Given the description of an element on the screen output the (x, y) to click on. 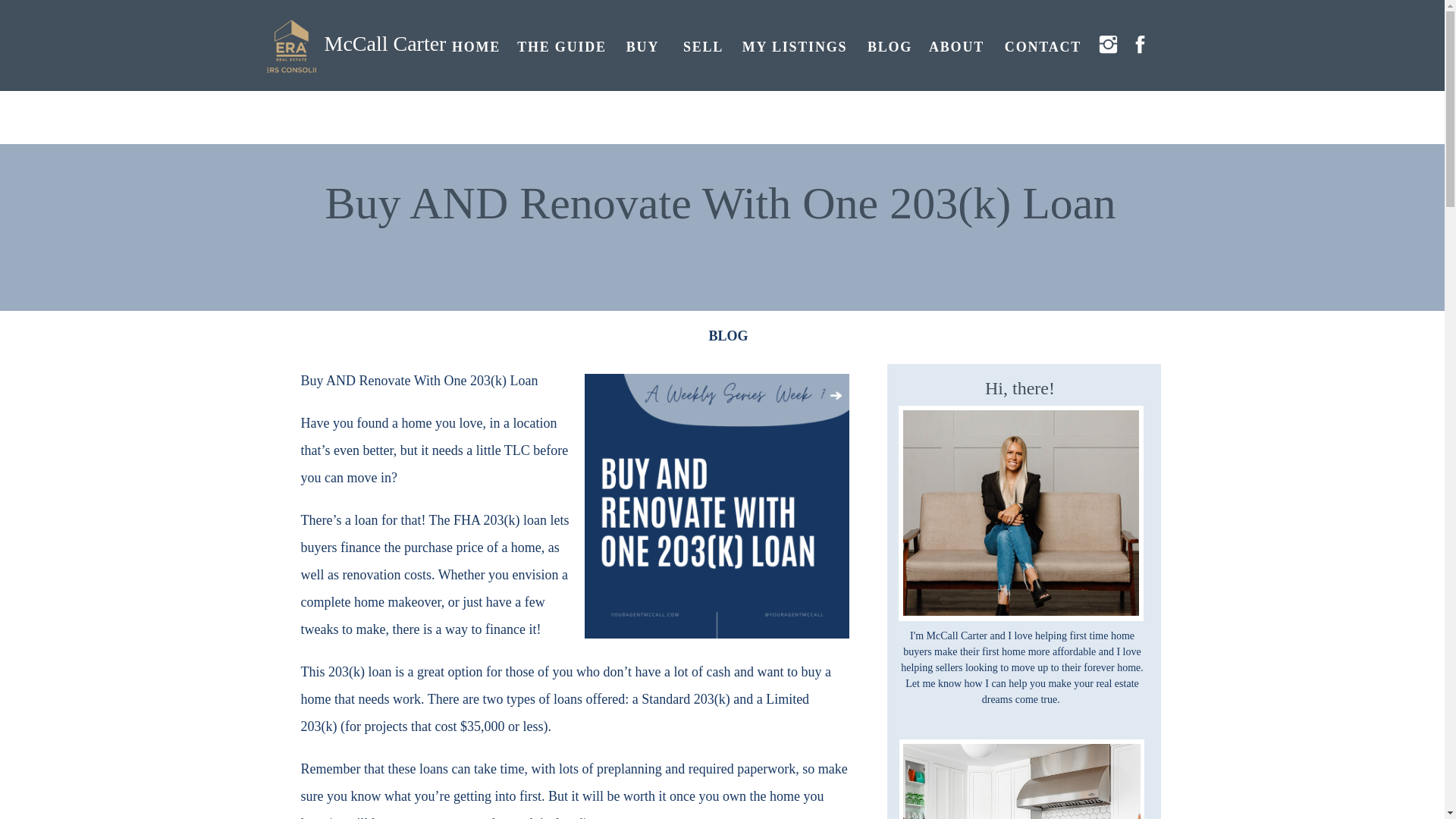
ABOUT (956, 44)
McCall Carter (392, 56)
BUY (641, 44)
SELL (703, 44)
MY LISTINGS (794, 44)
CONTACT (1042, 44)
THE GUIDE (561, 44)
BLOG (727, 335)
HOME (475, 44)
BLOG (889, 44)
